Given the description of an element on the screen output the (x, y) to click on. 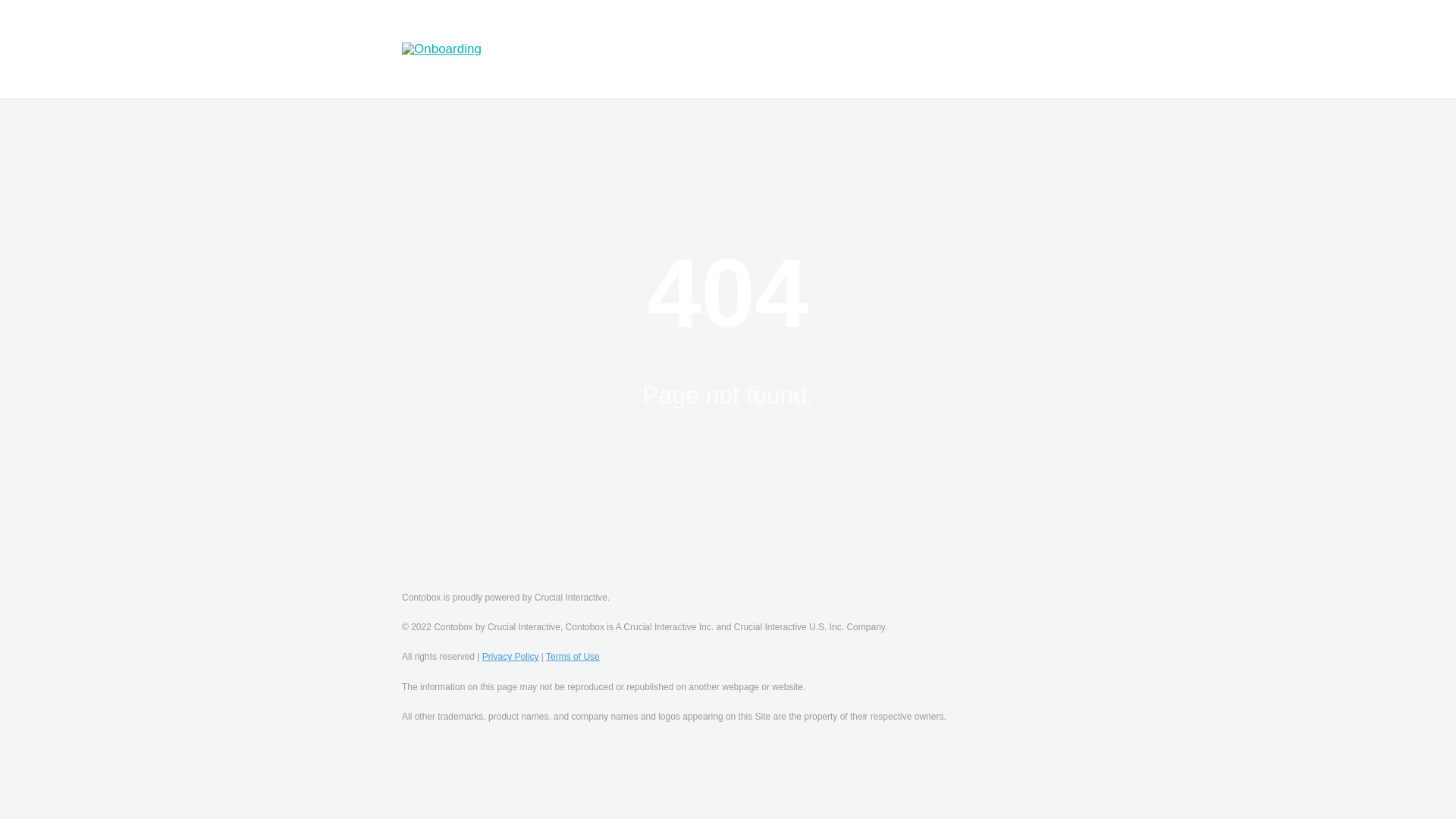
DASHBOARD (729, 35)
Terms of Use (572, 656)
REPORTER (715, 62)
EDUCATION (555, 35)
DESIGN (641, 35)
CAMPAIGN FEED (926, 35)
PLANNER (823, 35)
Privacy Policy (509, 656)
